Given the description of an element on the screen output the (x, y) to click on. 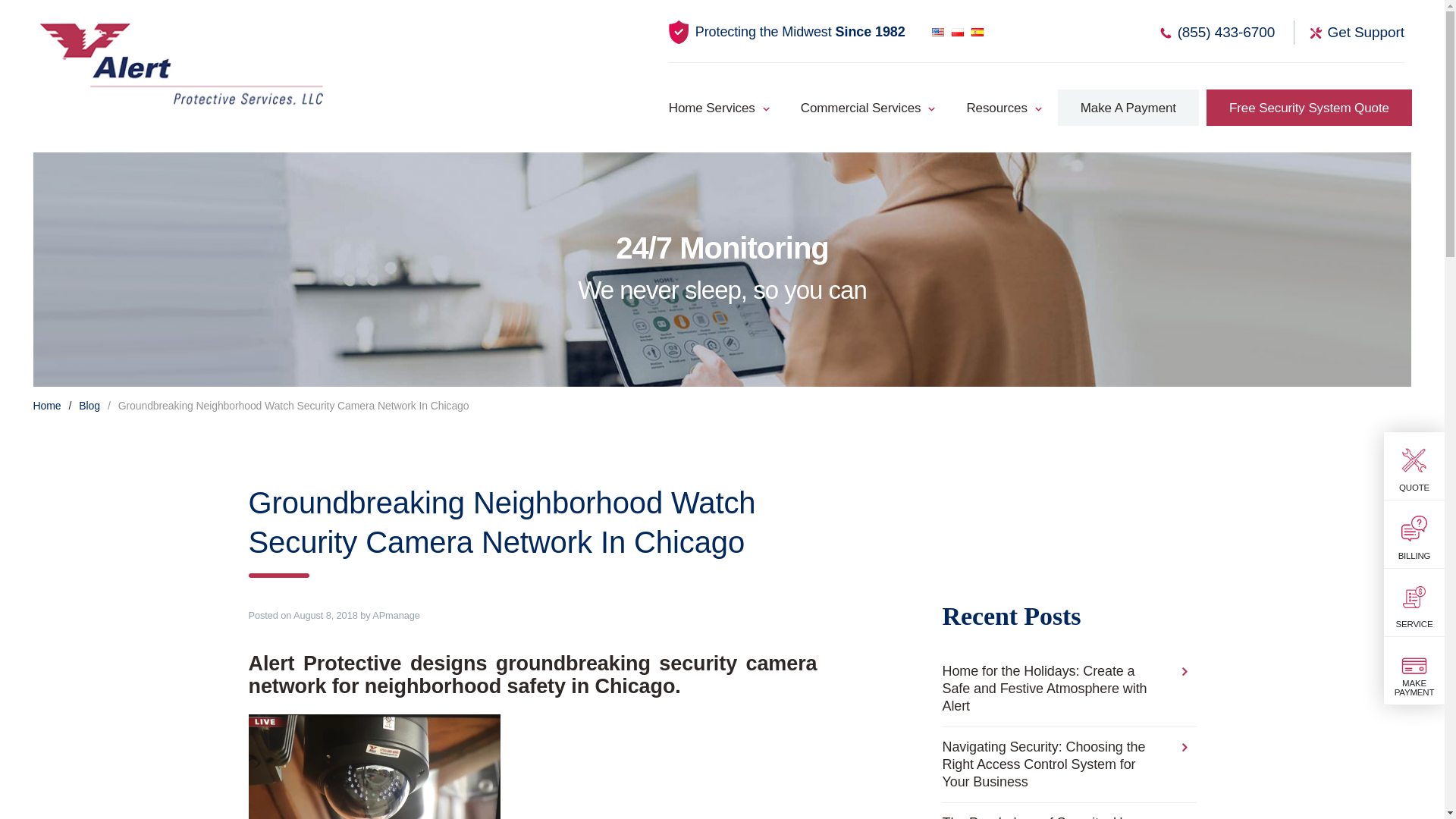
Home (47, 406)
Commercial Security Systems (860, 111)
Alert Protective (182, 63)
August 8, 2018 (326, 614)
Make A Payment (1128, 107)
Alert Protective (182, 63)
Resources (996, 111)
Home Services (722, 111)
Free Security System Quote (1309, 107)
Resources (996, 111)
Blog (89, 406)
Home Security Systems (722, 111)
Get Support (1349, 32)
Commercial Services (860, 111)
